Given the description of an element on the screen output the (x, y) to click on. 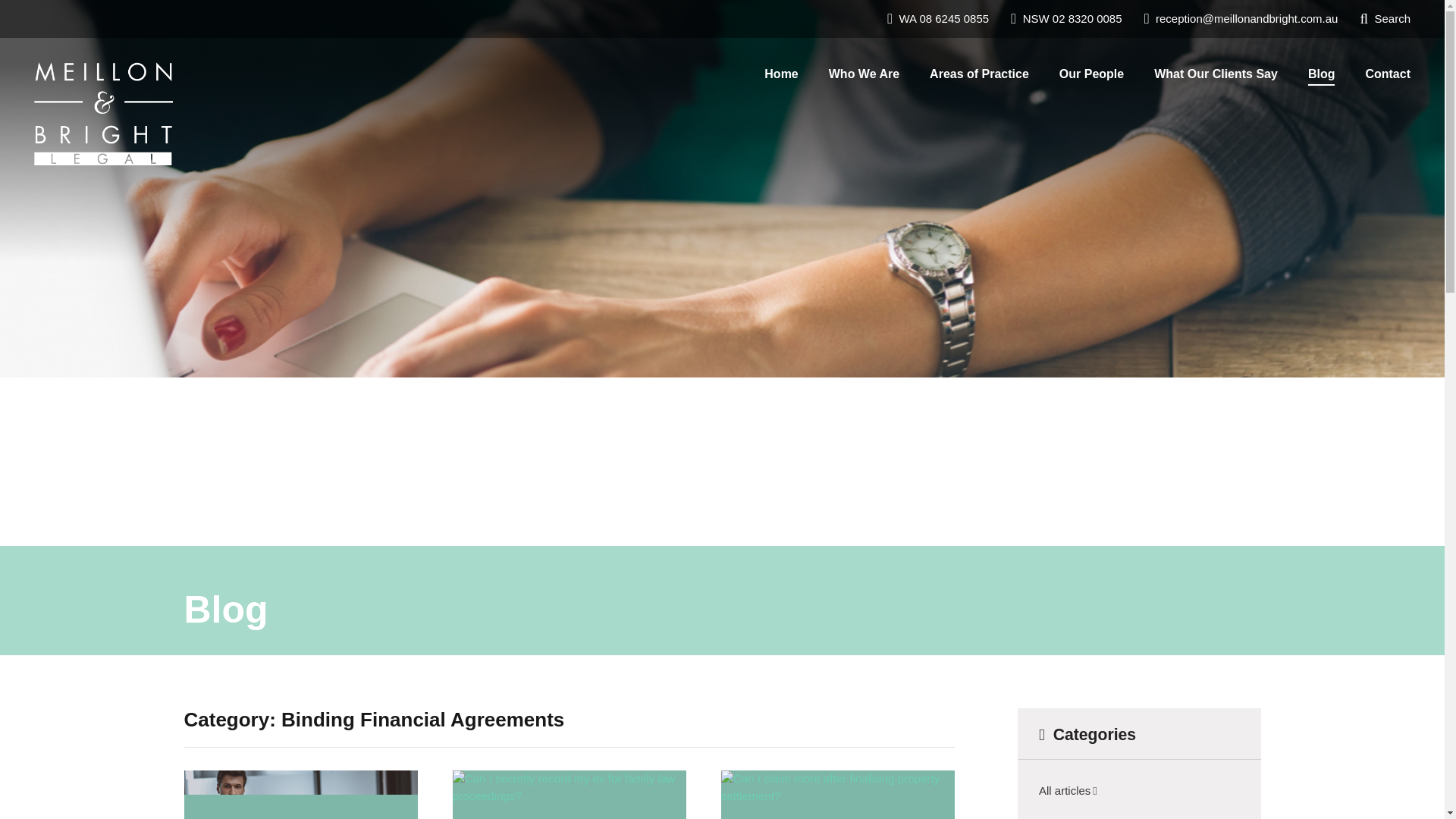
Our People (1090, 73)
  NSW 02 8320 0085 (1067, 18)
Home (780, 73)
Areas of Practice (978, 73)
Blog (1321, 73)
Contact (1387, 73)
Who We Are (863, 73)
  WA 08 6245 0855 (938, 18)
  Search (1384, 18)
What Our Clients Say (1215, 73)
